Given the description of an element on the screen output the (x, y) to click on. 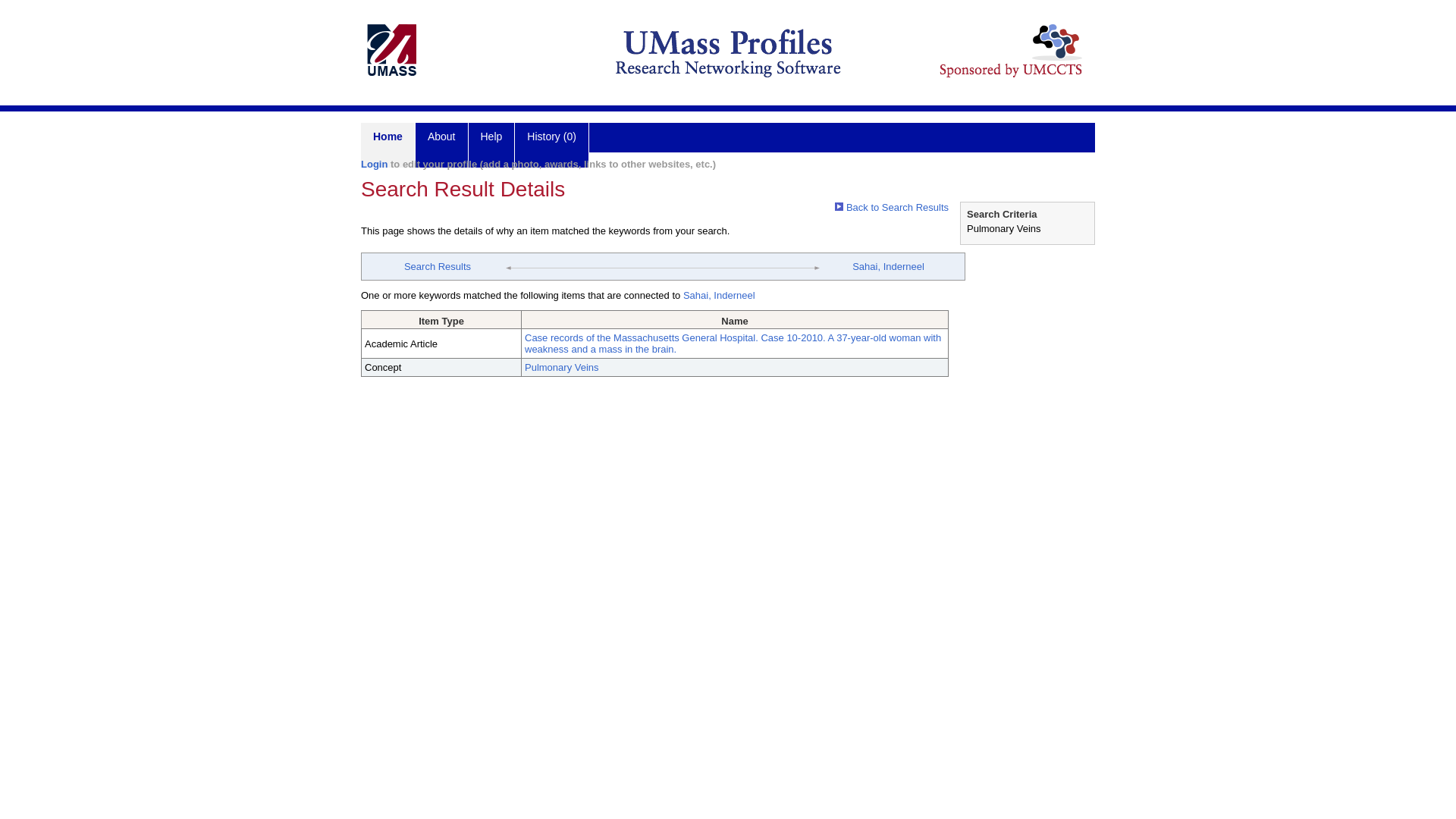
About (441, 144)
Search Results (437, 266)
Help (491, 144)
Home (387, 144)
Sahai, Inderneel (718, 295)
Pulmonary Veins (561, 367)
Login (374, 163)
Back to Search Results (891, 206)
Sahai, Inderneel (887, 266)
